Given the description of an element on the screen output the (x, y) to click on. 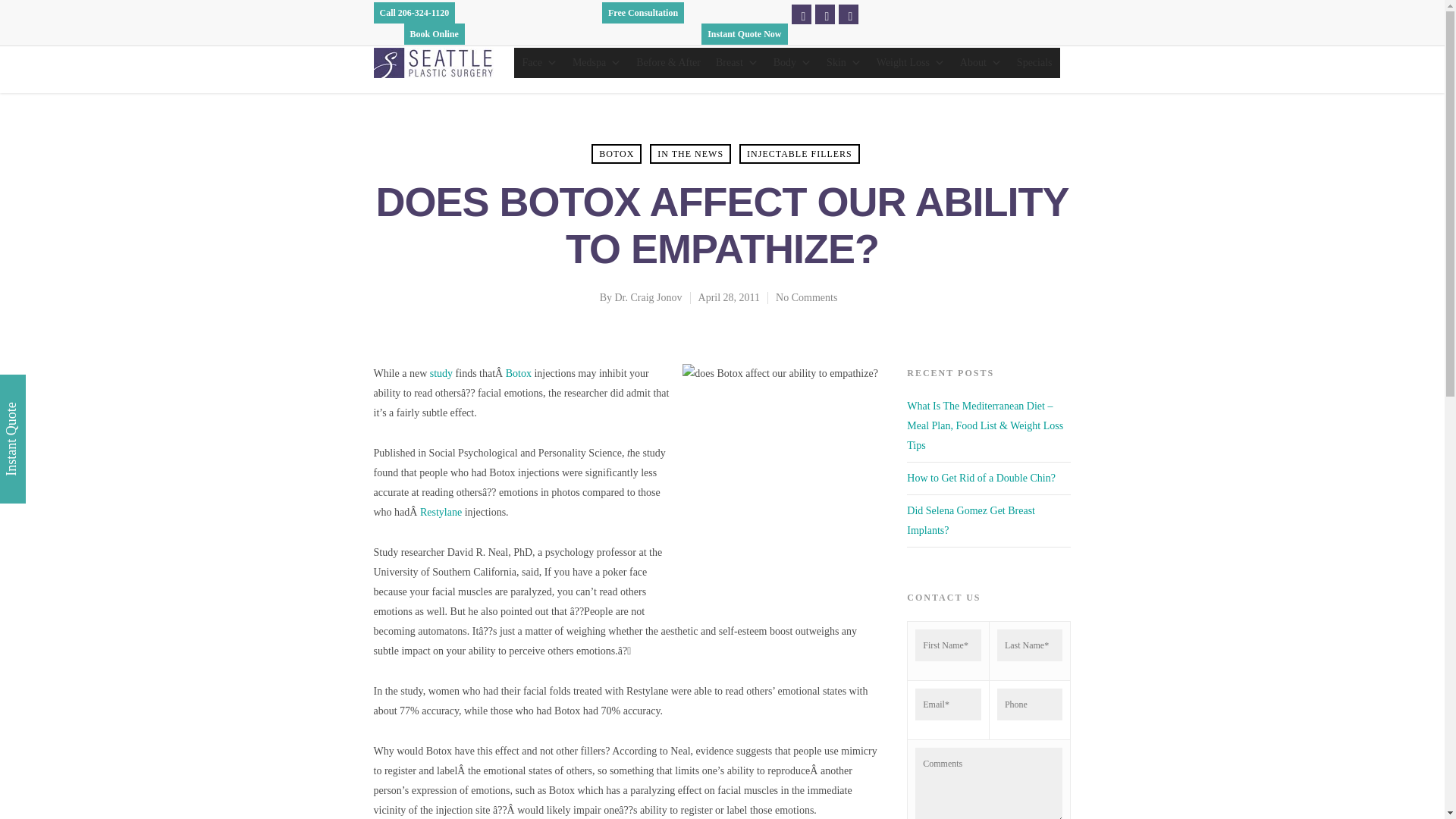
Free Consultation (643, 12)
Posts by Dr. Craig Jonov (647, 297)
Instant Quote Now (744, 34)
Call 206-324-1120 (413, 12)
Book Online (433, 34)
Face (538, 62)
